Given the description of an element on the screen output the (x, y) to click on. 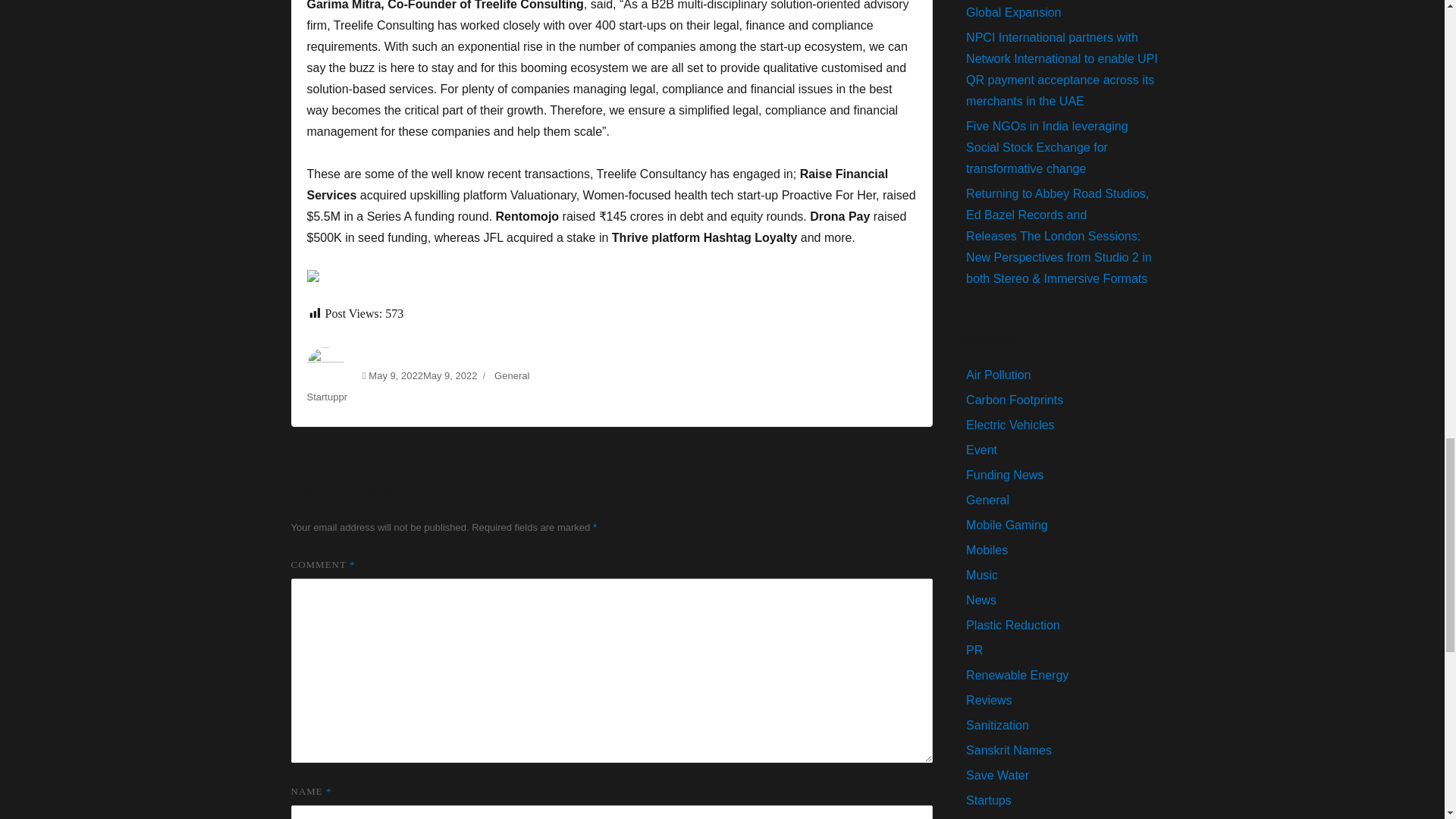
Startuppr (325, 396)
May 9, 2022May 9, 2022 (422, 375)
General (512, 375)
